Given the description of an element on the screen output the (x, y) to click on. 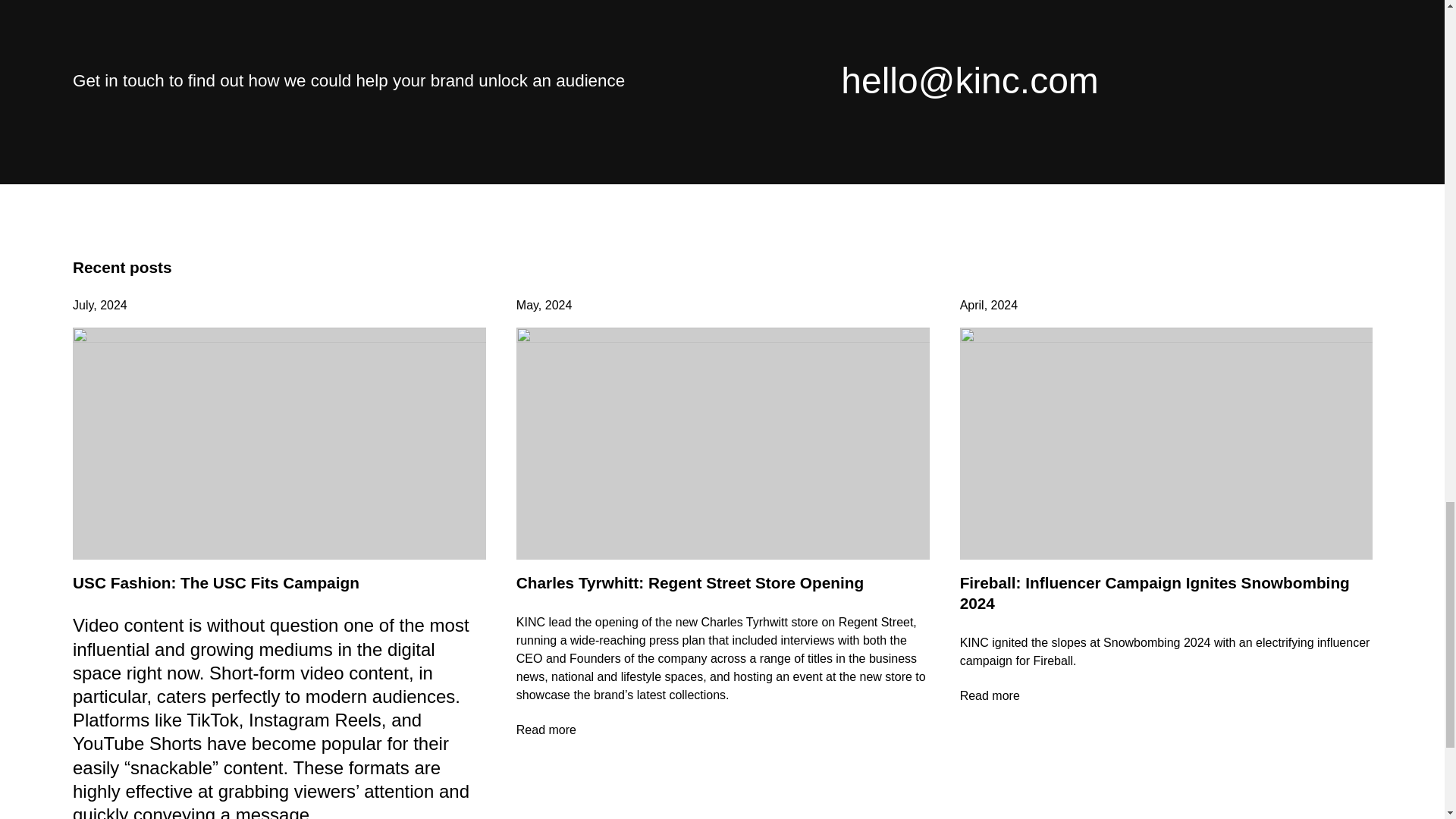
Read more (1166, 696)
Fireball: Influencer Campaign Ignites Snowbombing 2024 (1154, 592)
2024 (114, 305)
Charles Tyrwhitt: Regent Street Store Opening (689, 582)
Read more (723, 730)
July (82, 305)
2024 (558, 305)
USC Fashion: The USC Fits Campaign (215, 582)
April (971, 305)
May (527, 305)
